Given the description of an element on the screen output the (x, y) to click on. 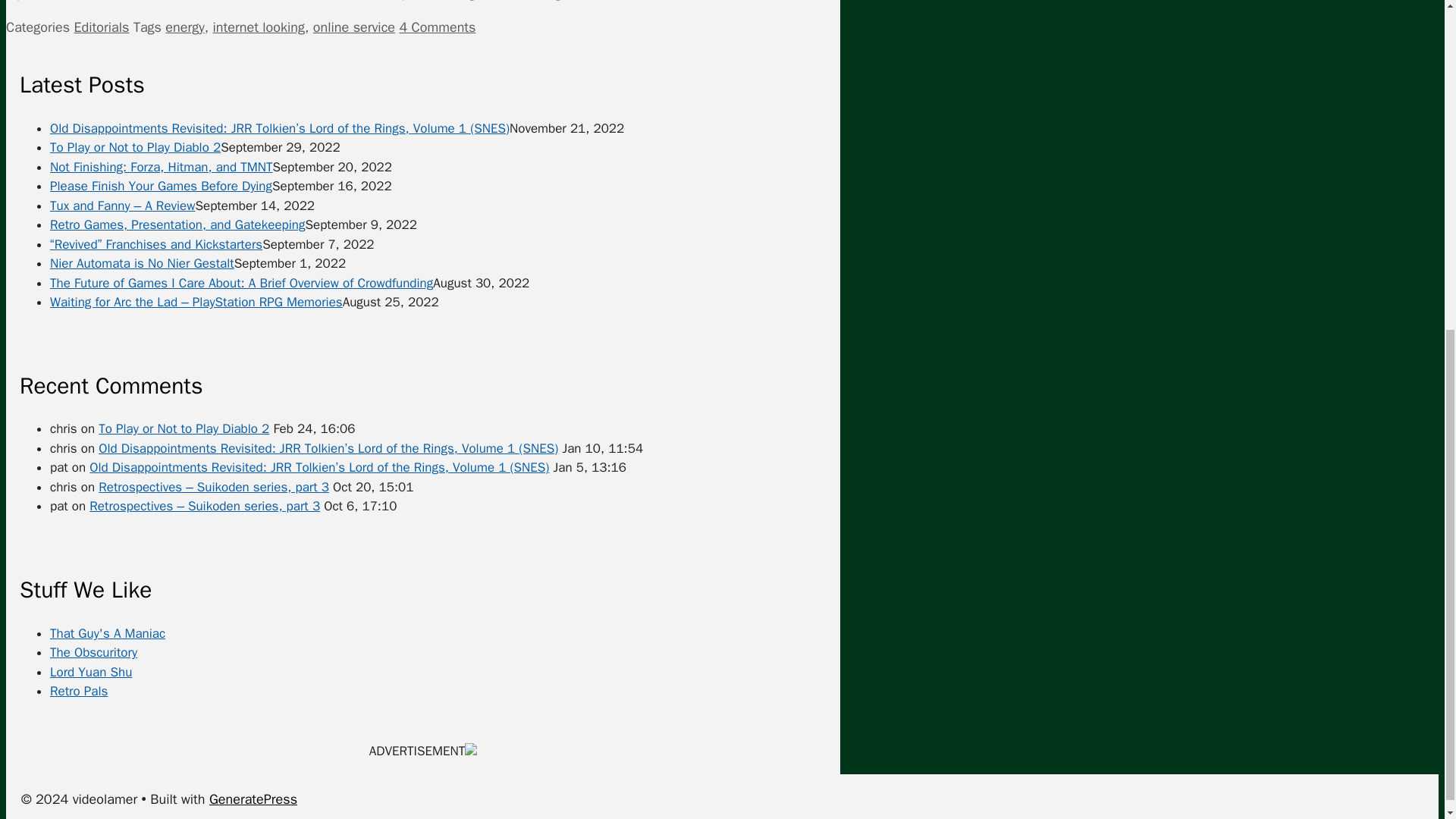
To Play or Not to Play Diablo 2 (135, 147)
Not Finishing: Forza, Hitman, and TMNT (160, 166)
The Obscuritory (92, 652)
To Play or Not to Play Diablo 2 (184, 428)
GeneratePress (253, 799)
That Guy's A Maniac (107, 633)
Retro Pals (78, 691)
internet looking (258, 27)
Lord Yuan Shu (90, 672)
Read the rest (757, 0)
Please Finish Your Games Before Dying (160, 186)
energy (184, 27)
Retro Games, Presentation, and Gatekeeping (176, 224)
Editorials (101, 27)
